Given the description of an element on the screen output the (x, y) to click on. 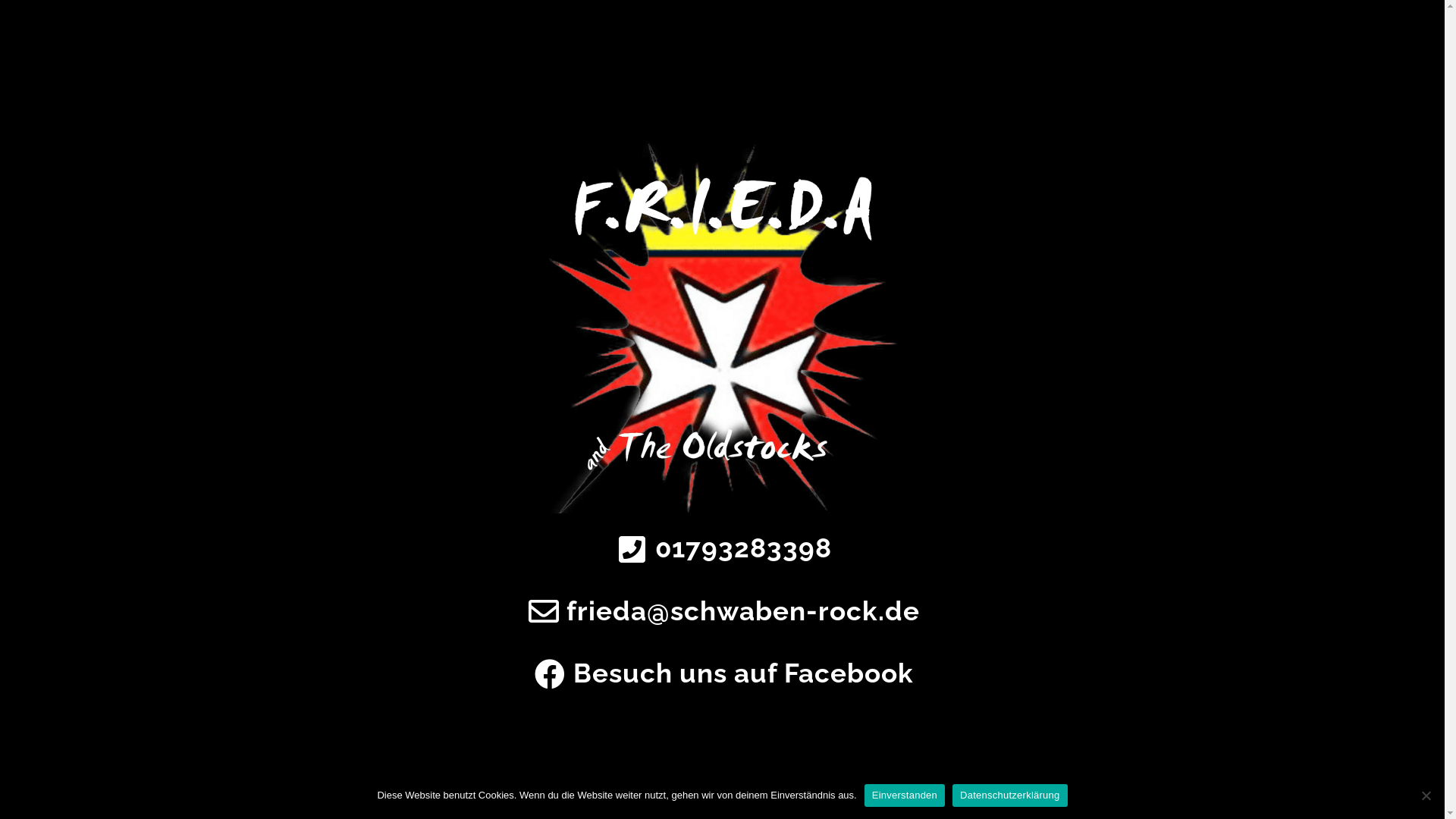
01793283398 Element type: text (721, 548)
frieda@schwaben-rock.de Element type: text (721, 611)
Einverstanden Element type: text (904, 795)
Besuch uns auf Facebook Element type: text (721, 673)
Nein Element type: hover (1425, 795)
